Given the description of an element on the screen output the (x, y) to click on. 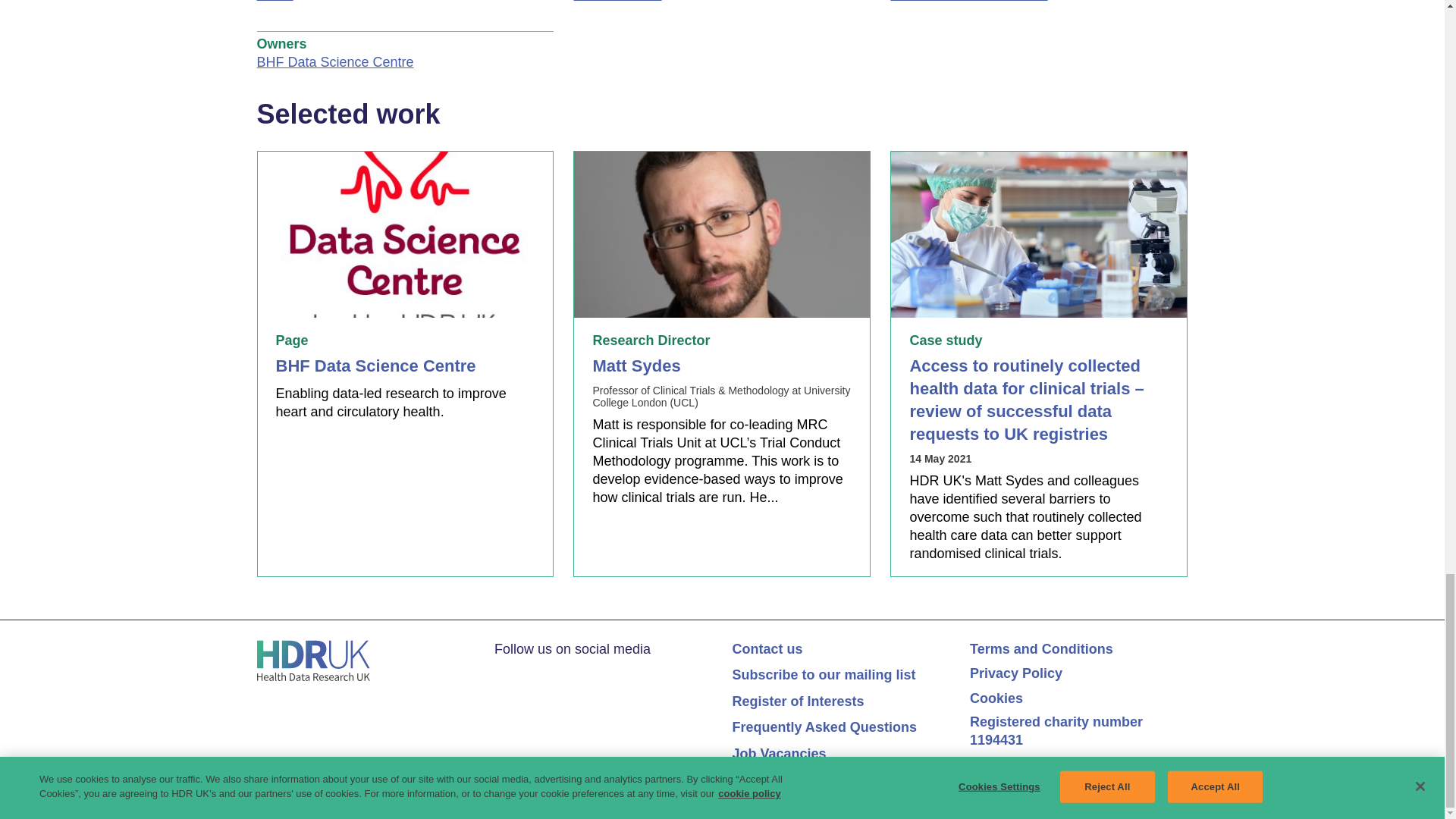
YouTube (561, 673)
LinkedIn (531, 673)
Twitter (503, 673)
